Given the description of an element on the screen output the (x, y) to click on. 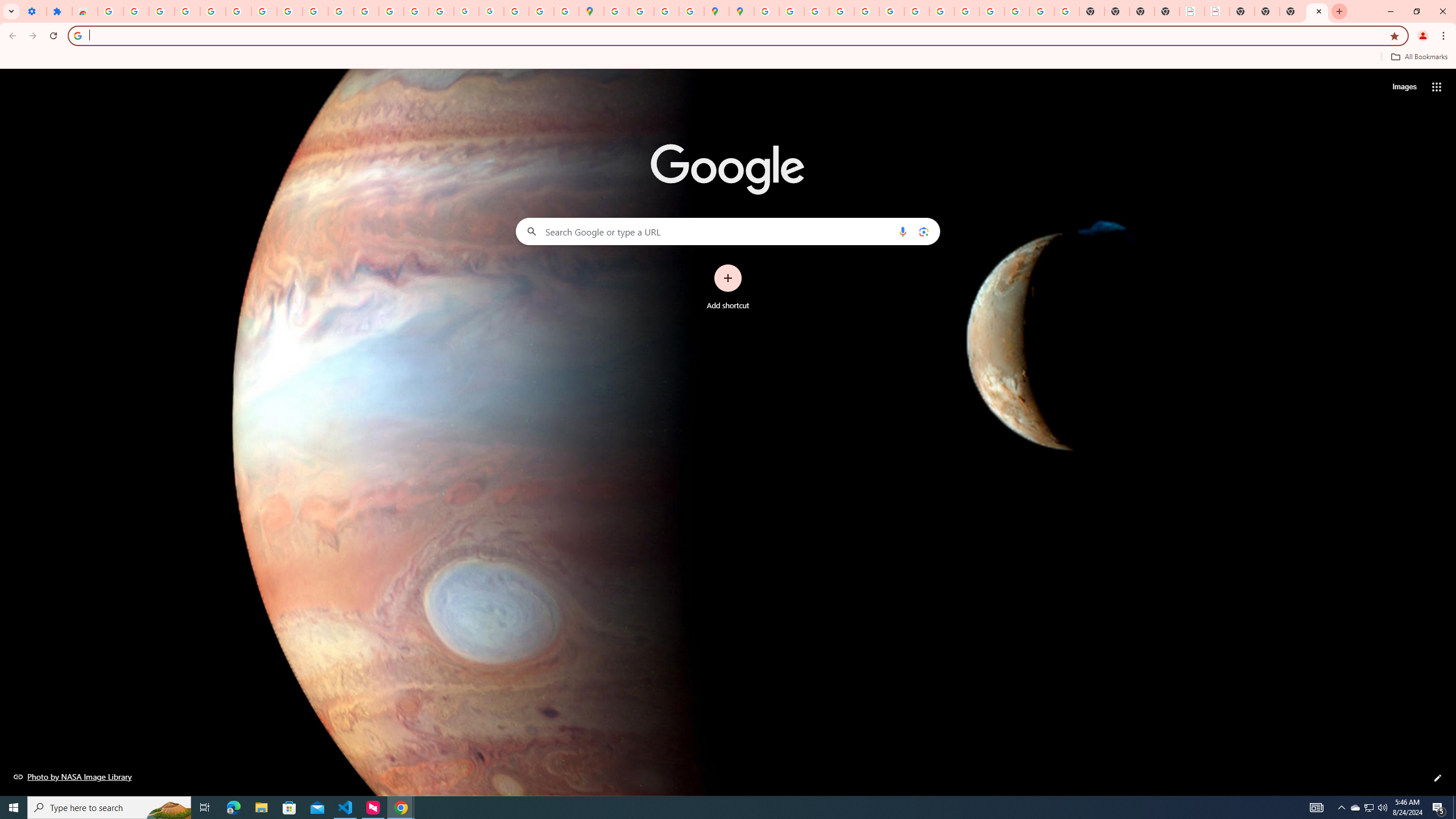
LAAD Defence & Security 2025 | BAE Systems (1191, 11)
Customize this page (1437, 778)
YouTube (916, 11)
Sign in - Google Accounts (238, 11)
Delete photos & videos - Computer - Google Photos Help (161, 11)
Sign in - Google Accounts (110, 11)
Sign in - Google Accounts (766, 11)
